Given the description of an element on the screen output the (x, y) to click on. 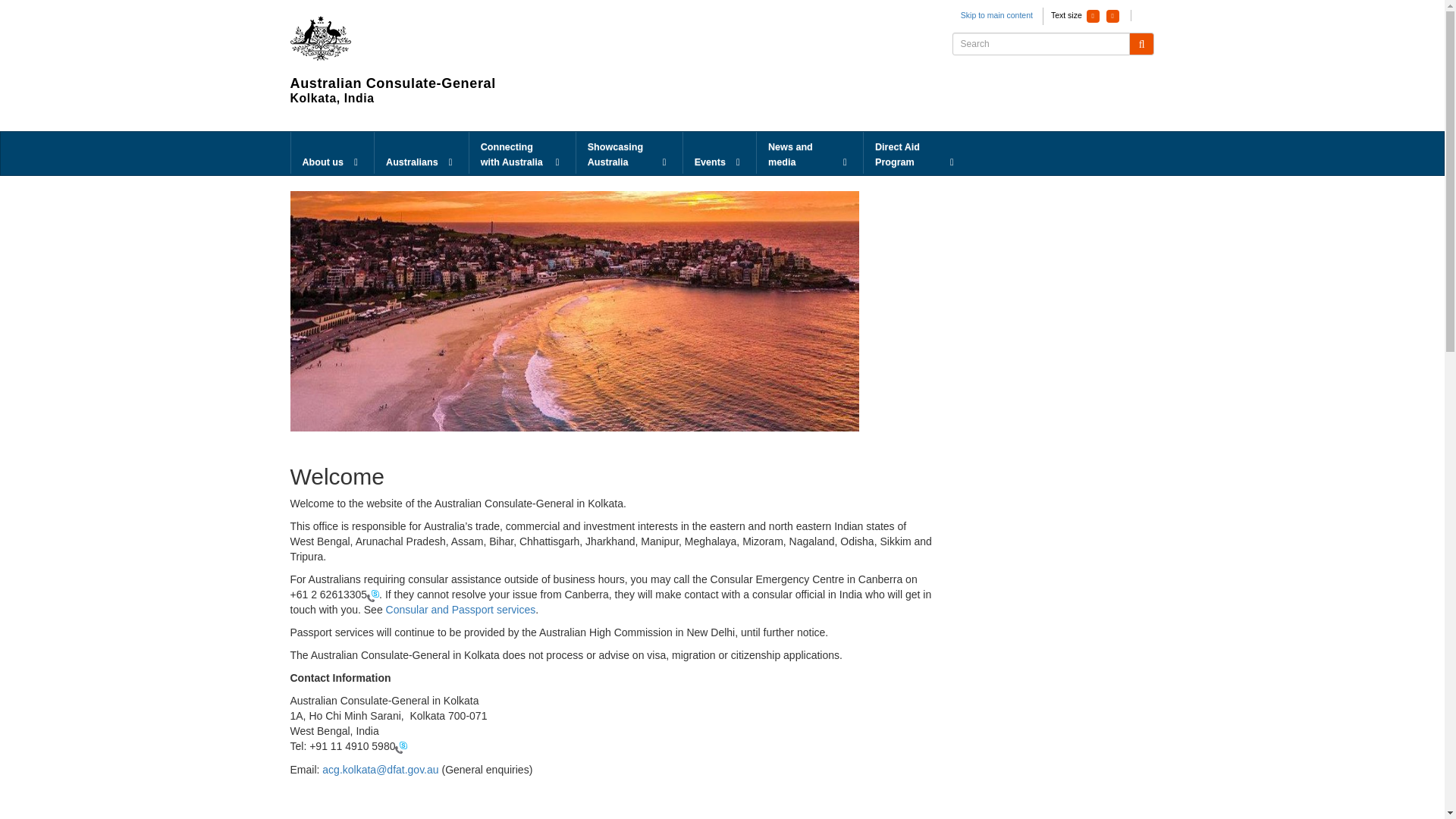
Increase text size. (1112, 15)
Australians   (421, 153)
Reduce text size. (1092, 15)
Events   (718, 153)
Consular and Passport services (460, 609)
Connecting with Australia   (521, 153)
Direct Aid Program   (916, 153)
News and media   (810, 153)
About us   (332, 153)
Skip to main content (996, 14)
Showcasing Australia   (629, 153)
